Given the description of an element on the screen output the (x, y) to click on. 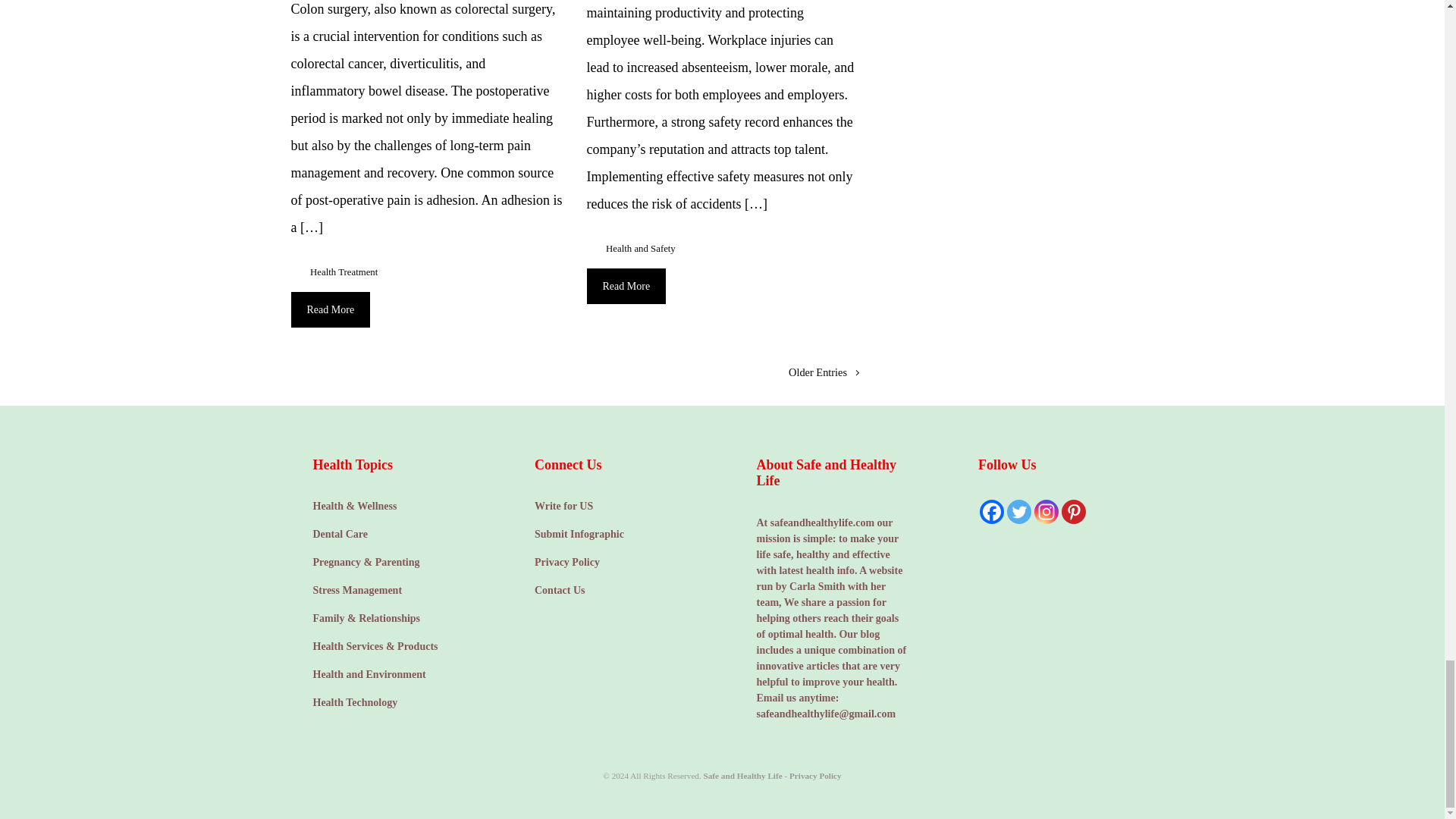
Facebook (991, 511)
Twitter (1018, 511)
Instagram (1045, 511)
